Given the description of an element on the screen output the (x, y) to click on. 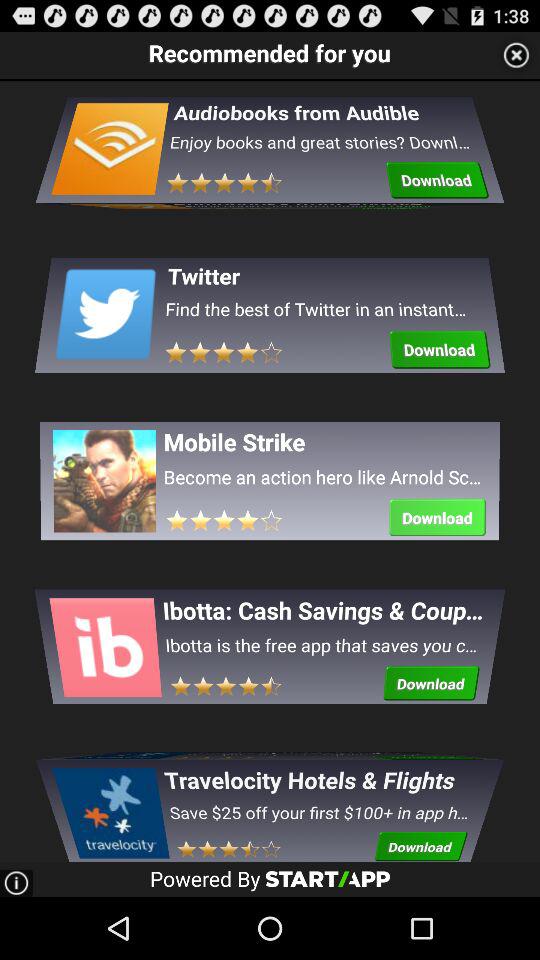
click on the close button (516, 54)
select the third image under recommended for you (109, 480)
